Given the description of an element on the screen output the (x, y) to click on. 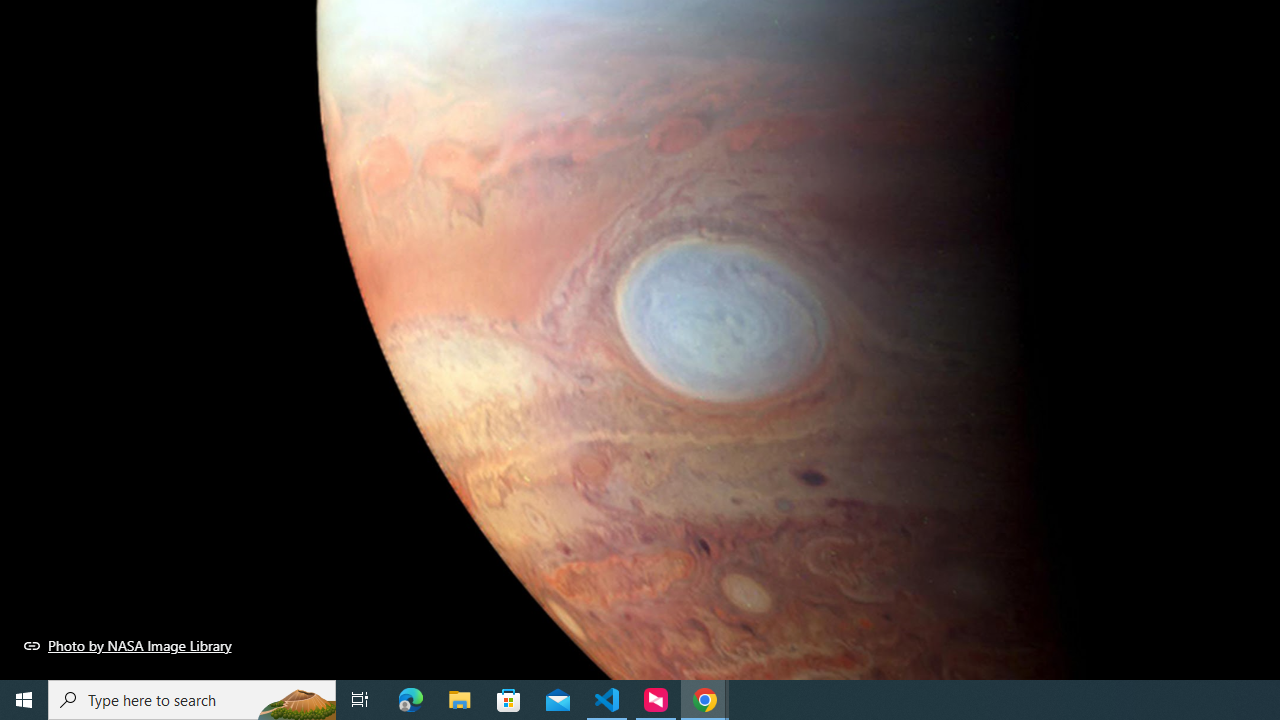
Photo by NASA Image Library (127, 645)
